Given the description of an element on the screen output the (x, y) to click on. 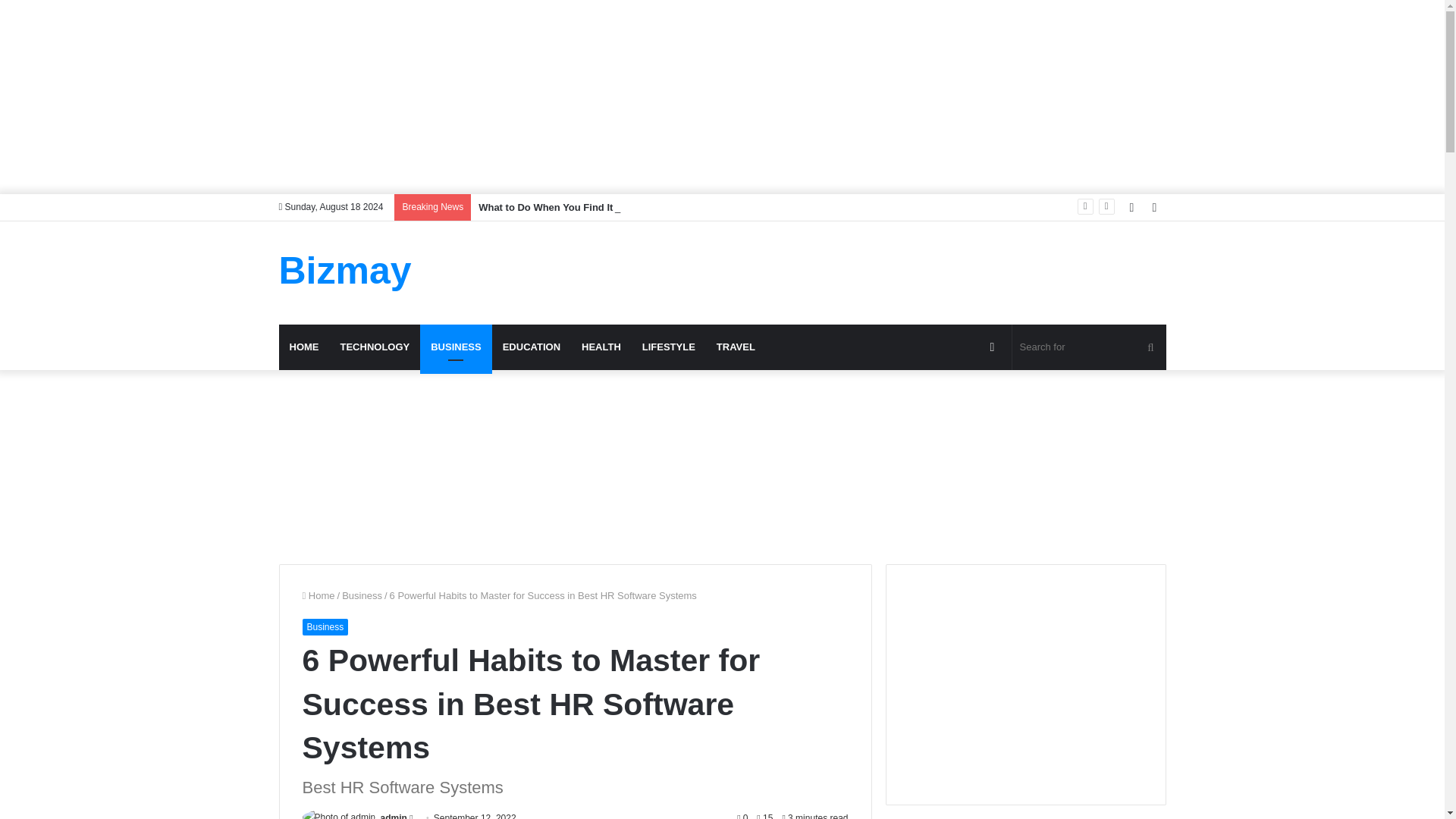
BUSINESS (456, 347)
HOME (304, 347)
EDUCATION (531, 347)
HEALTH (600, 347)
Search for (1088, 347)
Bizmay (345, 270)
Advertisement (873, 270)
TRAVEL (735, 347)
LIFESTYLE (668, 347)
